Given the description of an element on the screen output the (x, y) to click on. 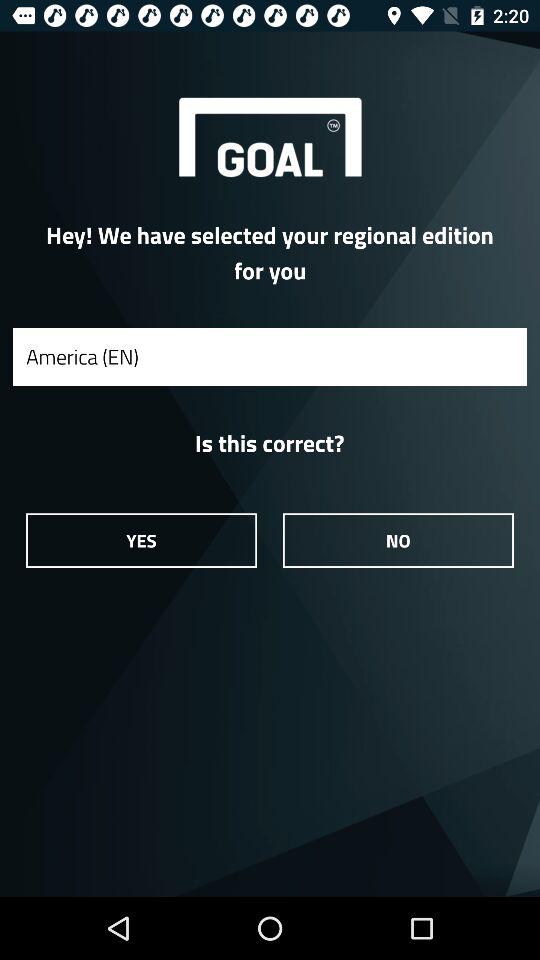
scroll until no item (398, 540)
